Given the description of an element on the screen output the (x, y) to click on. 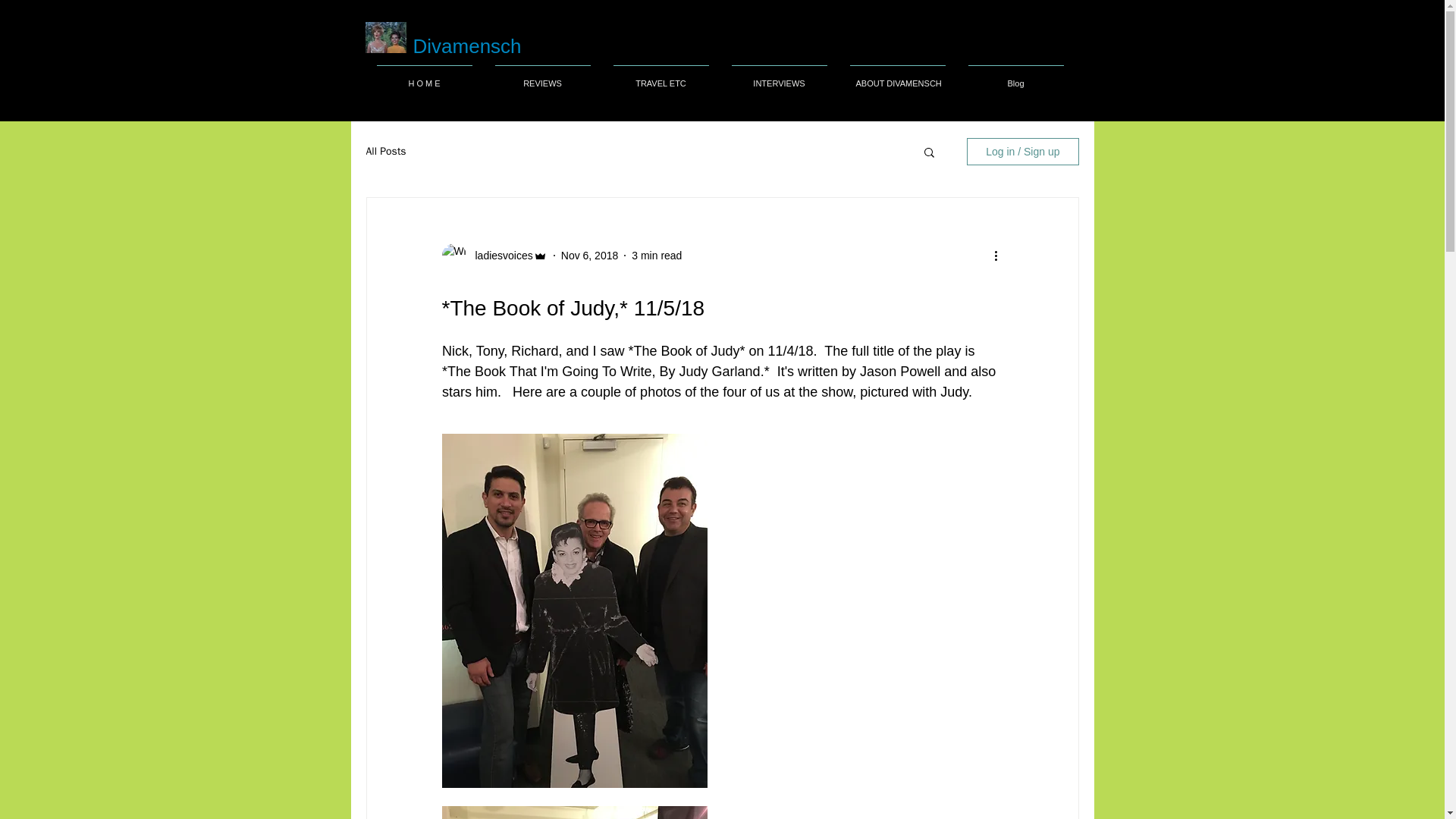
3 min read (656, 255)
All Posts (385, 151)
TRAVEL ETC (661, 76)
Nov 6, 2018 (589, 255)
REVIEWS (542, 76)
ladiesvoices (498, 255)
INTERVIEWS (779, 76)
ABOUT DIVAMENSCH (897, 76)
H O M E (424, 76)
Ginger and Mary Ann.jpg (385, 37)
